Given the description of an element on the screen output the (x, y) to click on. 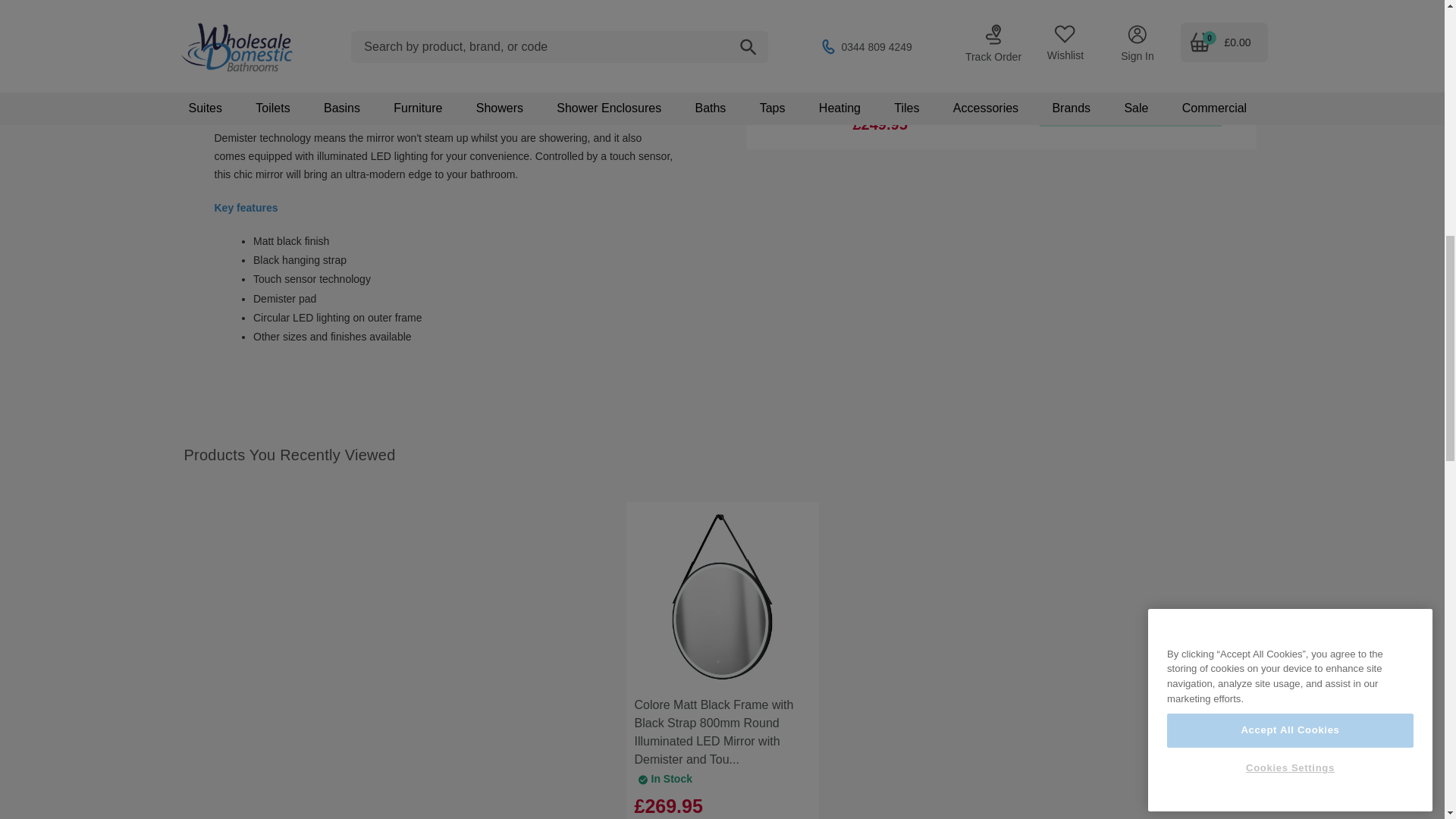
Add to Cart (1130, 109)
